Given the description of an element on the screen output the (x, y) to click on. 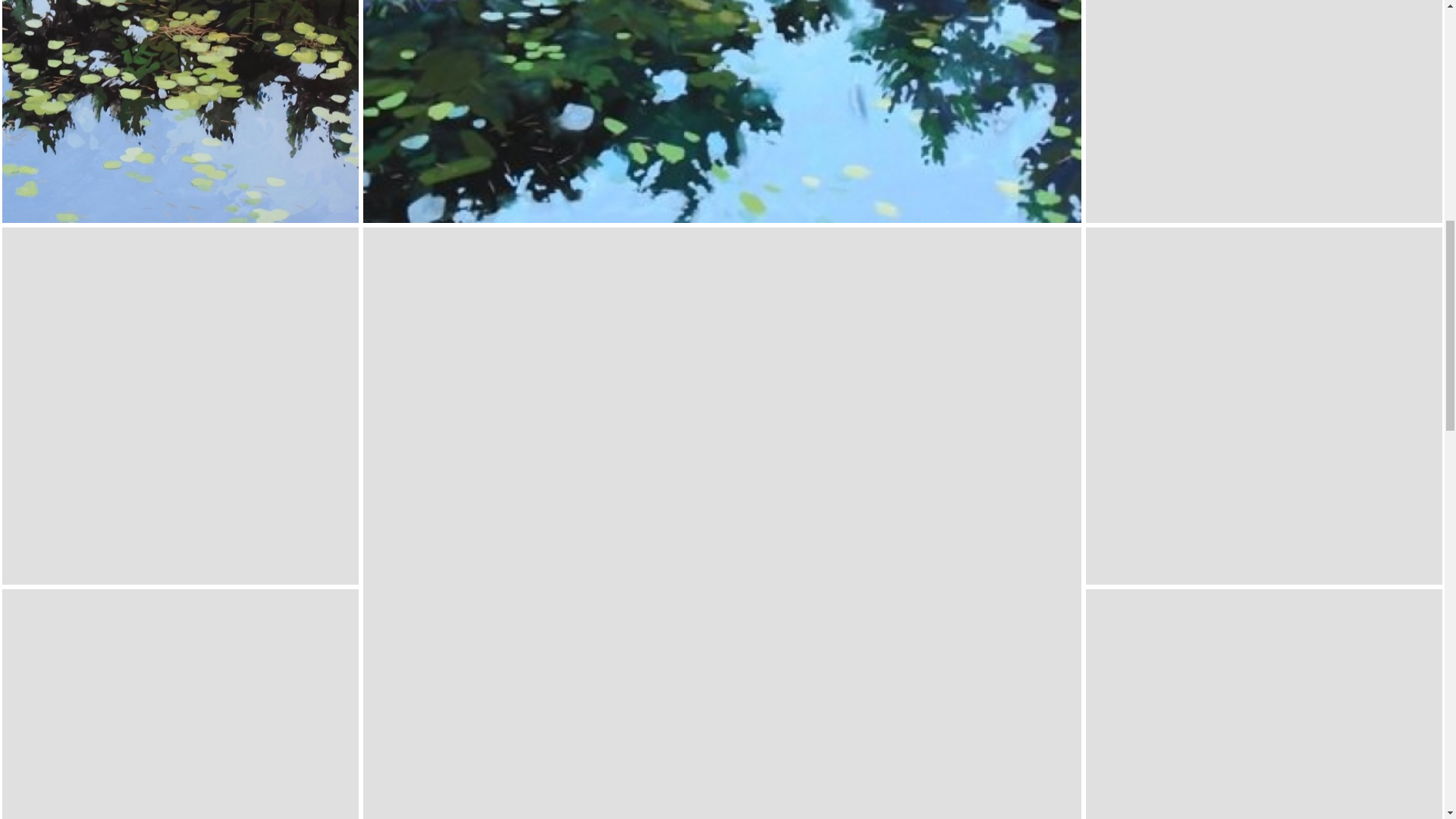
David Dawson (180, 405)
David Dawson (180, 111)
David Dawson (1264, 111)
